Given the description of an element on the screen output the (x, y) to click on. 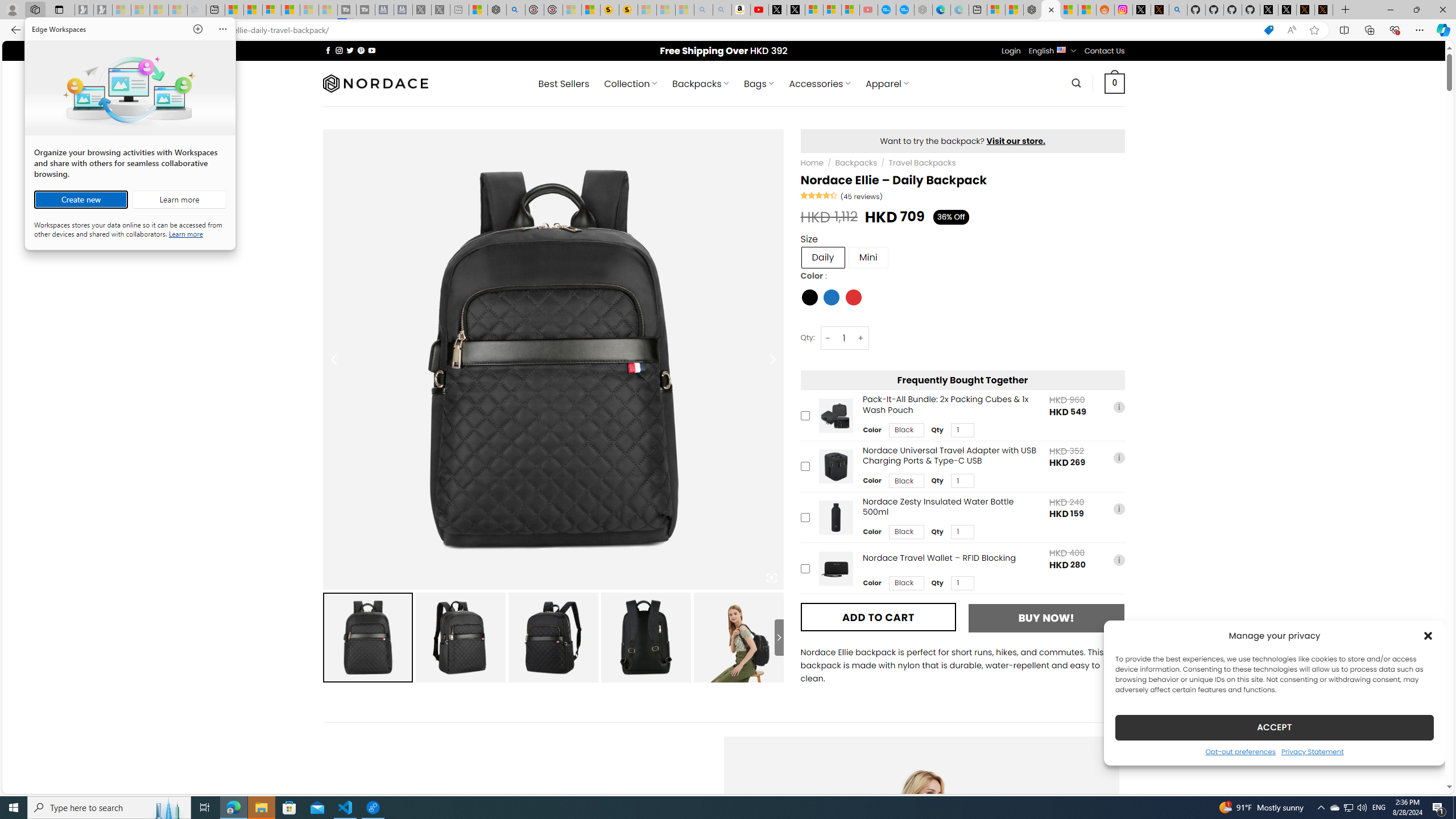
Overview (271, 9)
Task View (204, 807)
i (1347, 807)
Privacy Statement (1118, 559)
GitHub (@github) / X (1312, 750)
ACCEPT (1287, 9)
Follow on Facebook (1274, 727)
Shanghai, China Weather trends | Microsoft Weather (327, 49)
